Given the description of an element on the screen output the (x, y) to click on. 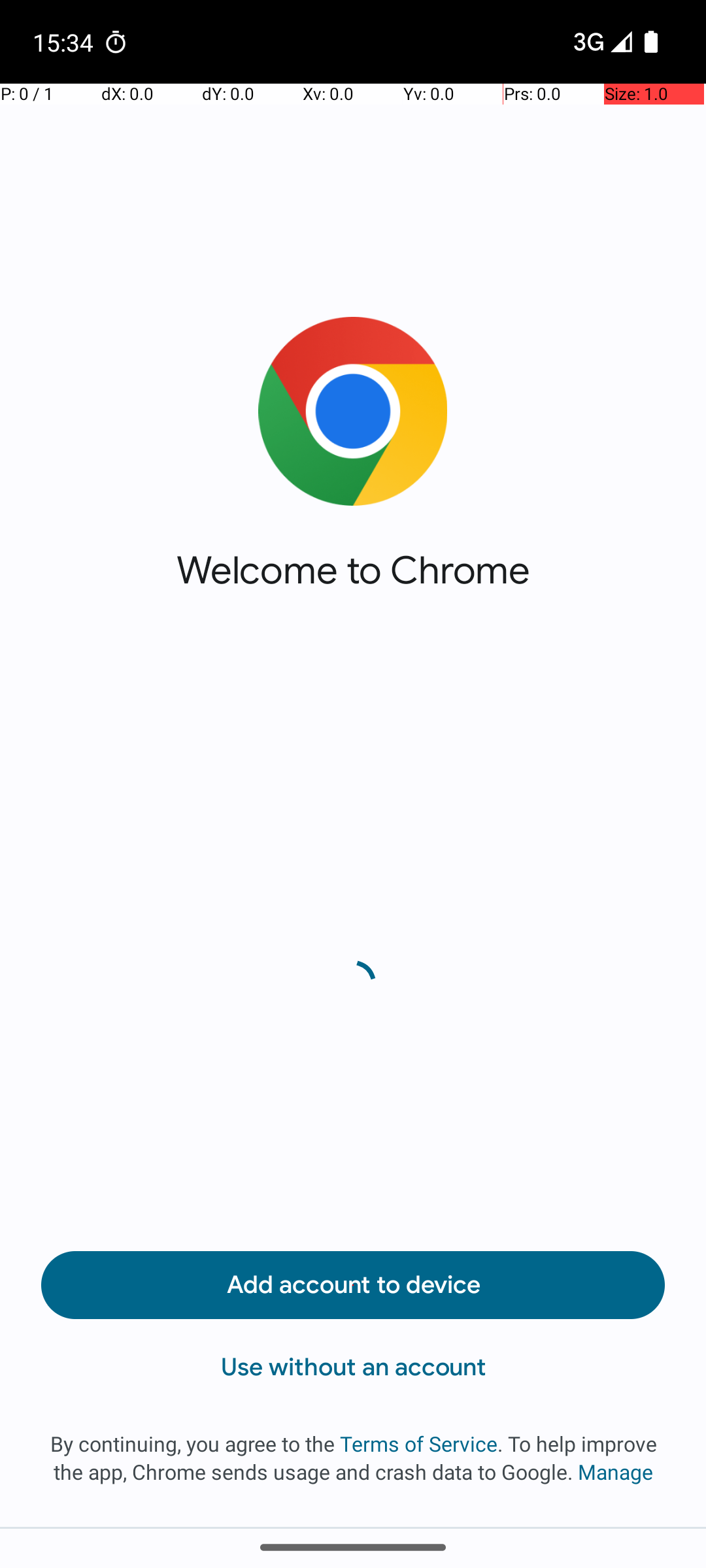
By continuing, you agree to the Terms of Service. To help improve the app, Chrome sends usage and crash data to Google. Manage Element type: android.widget.TextView (352, 1457)
Add account to device Element type: android.widget.Button (352, 1284)
Use without an account Element type: android.widget.Button (352, 1367)
